Given the description of an element on the screen output the (x, y) to click on. 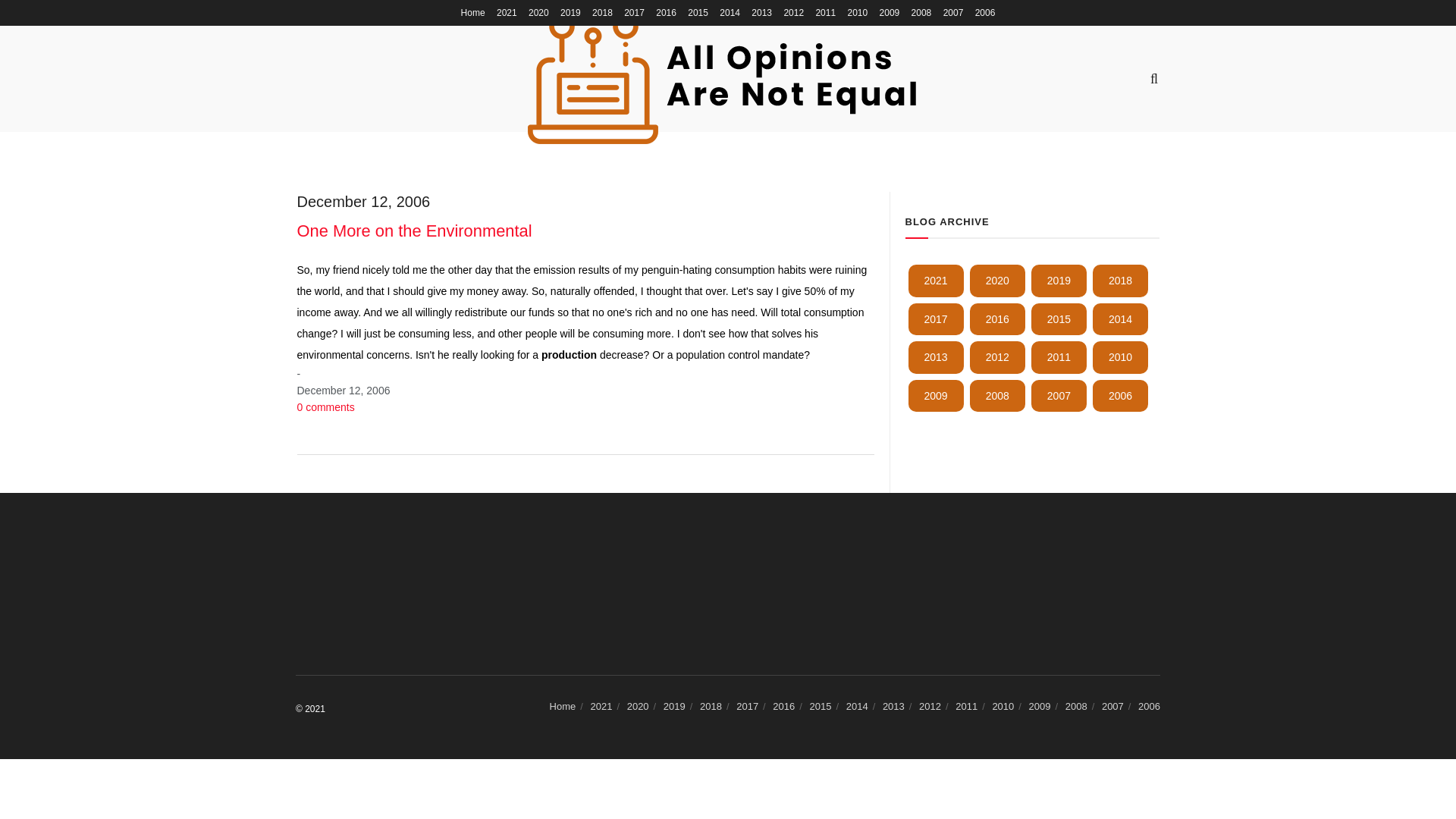
2014 (1120, 318)
2021 (935, 280)
2020 (997, 280)
2017 (935, 318)
Home (472, 12)
2015 (1058, 318)
2019 (1058, 280)
0 comments (326, 407)
2012 (997, 357)
2013 (935, 357)
2016 (997, 318)
One More on the Environmental (414, 230)
2018 (1120, 280)
